Given the description of an element on the screen output the (x, y) to click on. 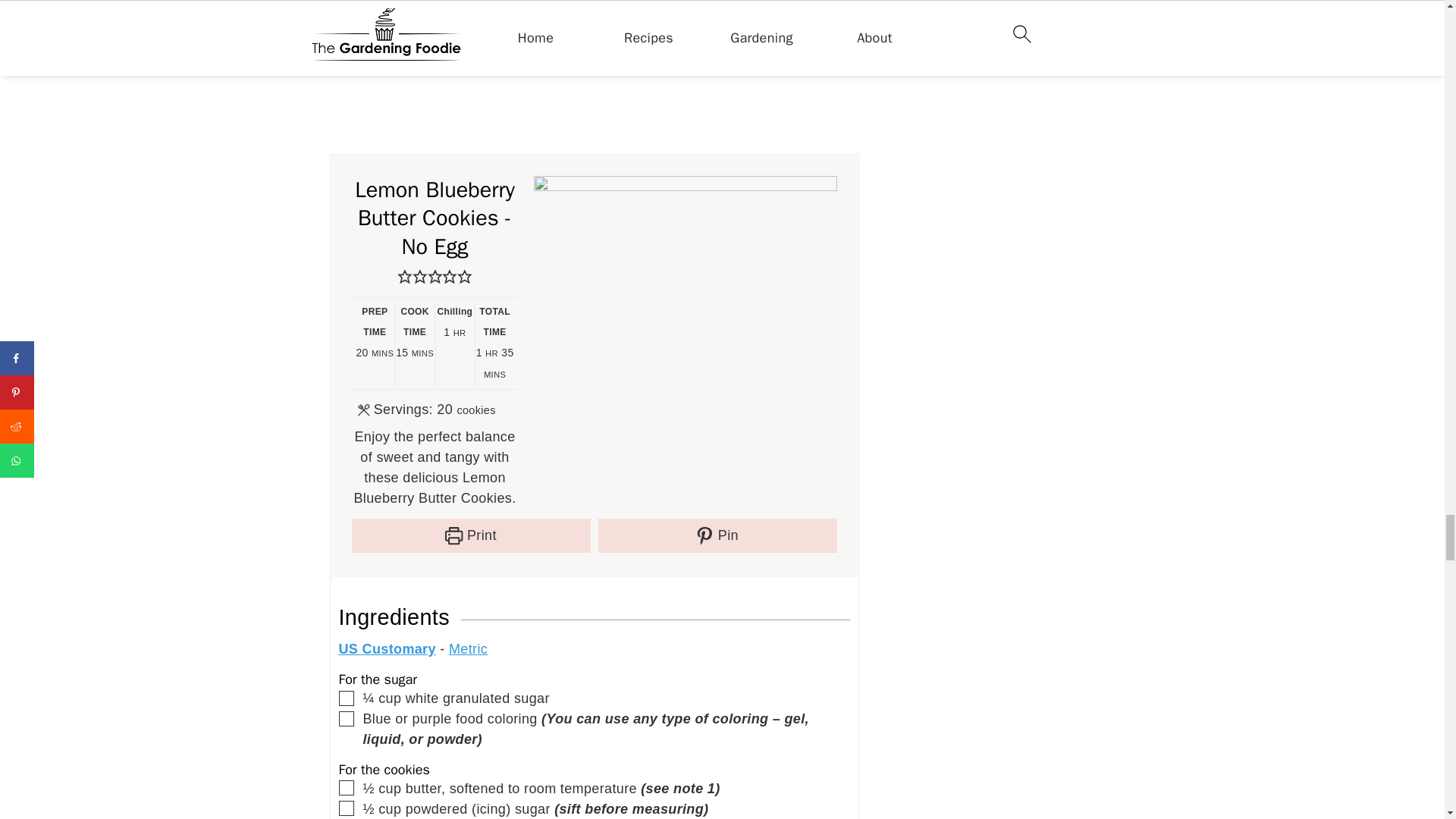
Print (471, 535)
Pin (715, 535)
Metric (467, 648)
US Customary (386, 648)
